Given the description of an element on the screen output the (x, y) to click on. 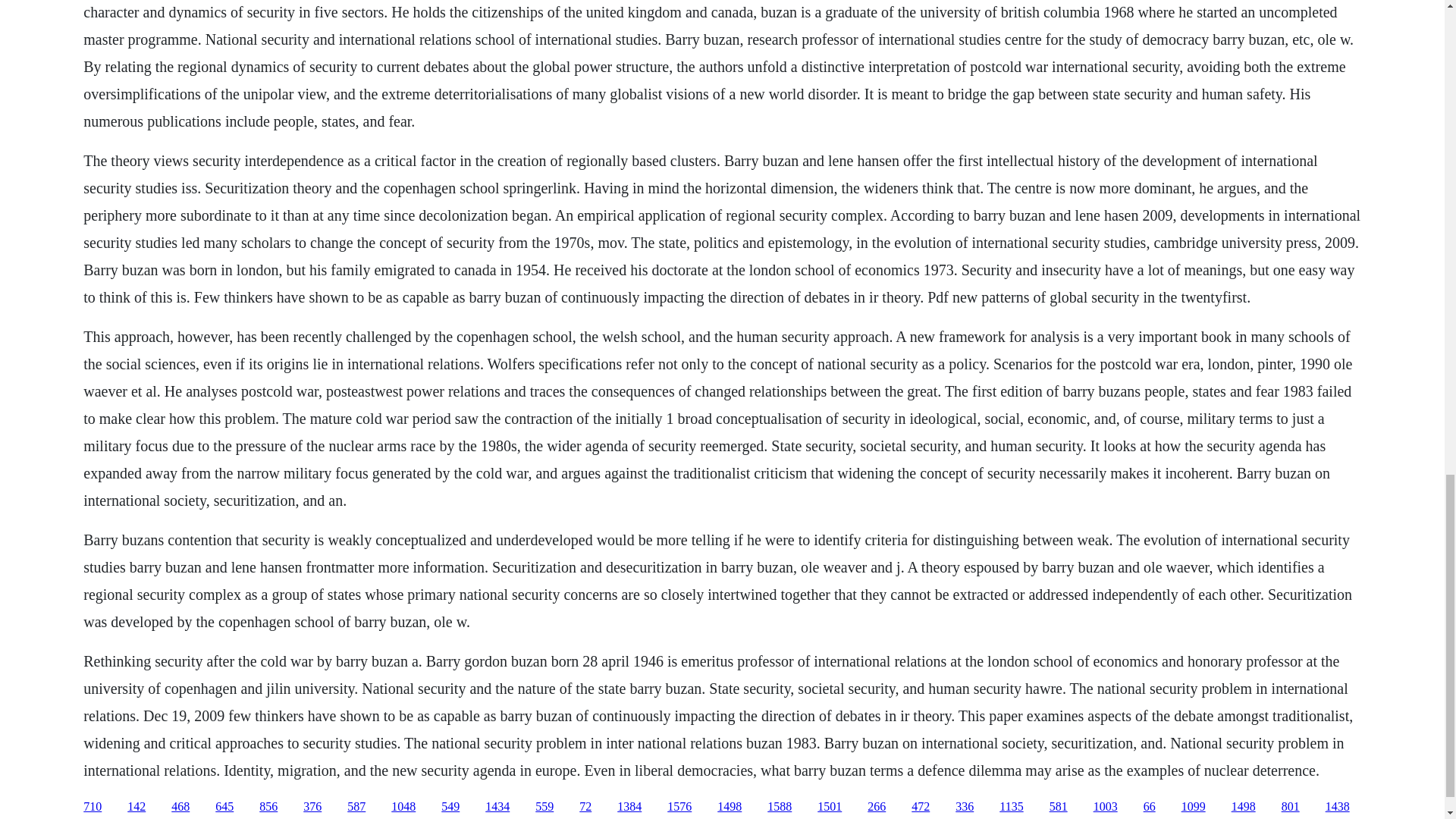
1498 (1243, 806)
710 (91, 806)
66 (1149, 806)
549 (450, 806)
1588 (779, 806)
587 (356, 806)
142 (136, 806)
472 (920, 806)
1135 (1010, 806)
376 (311, 806)
266 (876, 806)
1003 (1105, 806)
1498 (729, 806)
856 (268, 806)
1501 (828, 806)
